Given the description of an element on the screen output the (x, y) to click on. 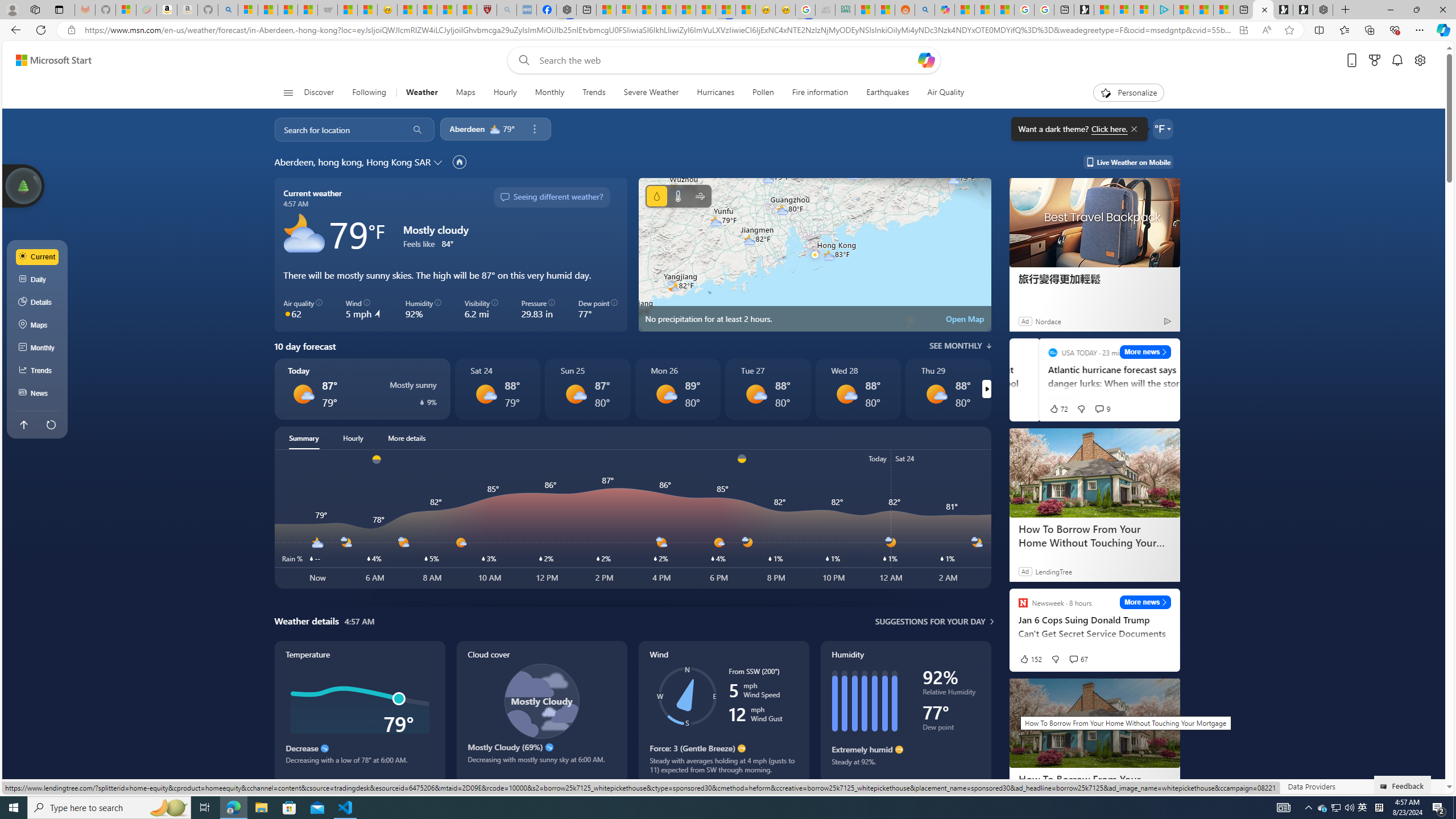
Your Privacy Choices (987, 785)
Maps (465, 92)
Dew point (951, 728)
Earthquakes (888, 92)
These 3 Stocks Pay You More Than 5% to Own Them (1222, 9)
Mostly cloudy (303, 232)
Switch right (986, 389)
Weather settings Want a dark theme?Click here. (1162, 128)
Data Providers (1311, 786)
Monthly (549, 92)
